Given the description of an element on the screen output the (x, y) to click on. 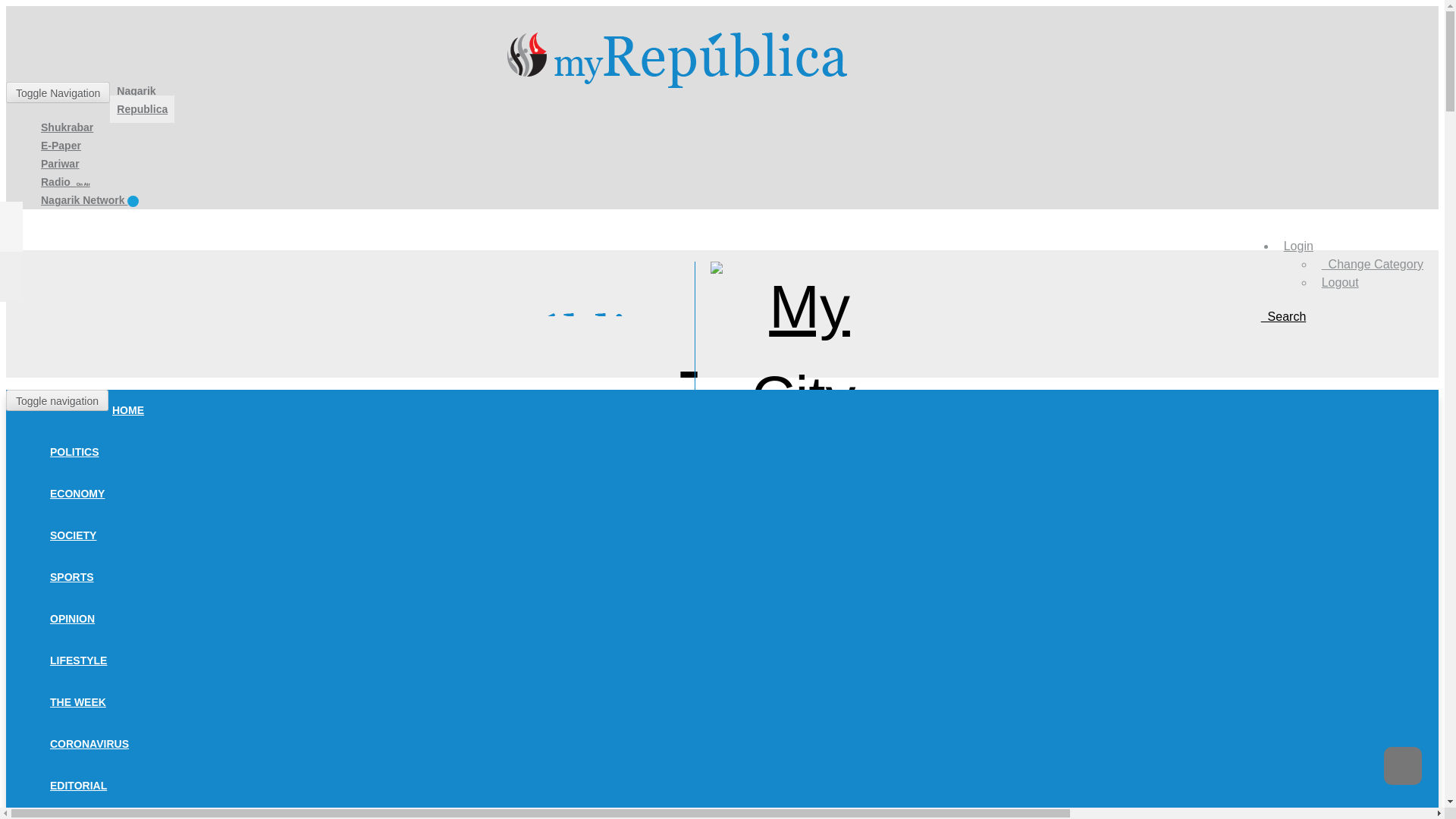
Pariwar (59, 163)
THE WEEK (78, 702)
Nagarik (135, 90)
Login (1298, 245)
Toggle navigation (56, 400)
OPINION (72, 618)
  Search (1283, 316)
SPORTS (71, 576)
Toggle Navigation (57, 92)
Radio  On Air (65, 181)
Query Your News (1283, 316)
SOCIETY (73, 535)
HOME (127, 410)
ECONOMY (76, 493)
Republica (142, 108)
